Given the description of an element on the screen output the (x, y) to click on. 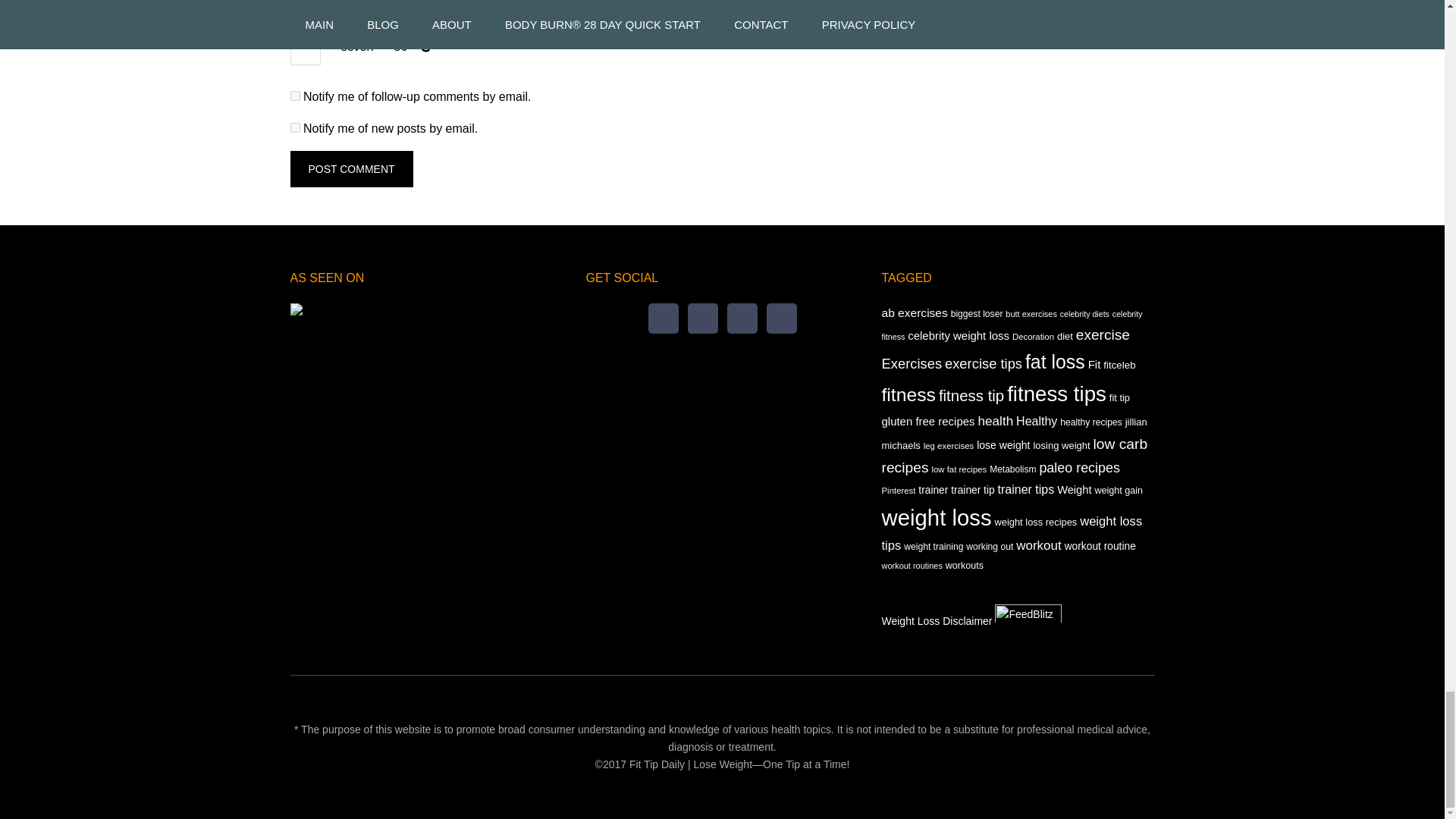
Post Comment (350, 168)
subscribe (294, 95)
subscribe (294, 127)
